Given the description of an element on the screen output the (x, y) to click on. 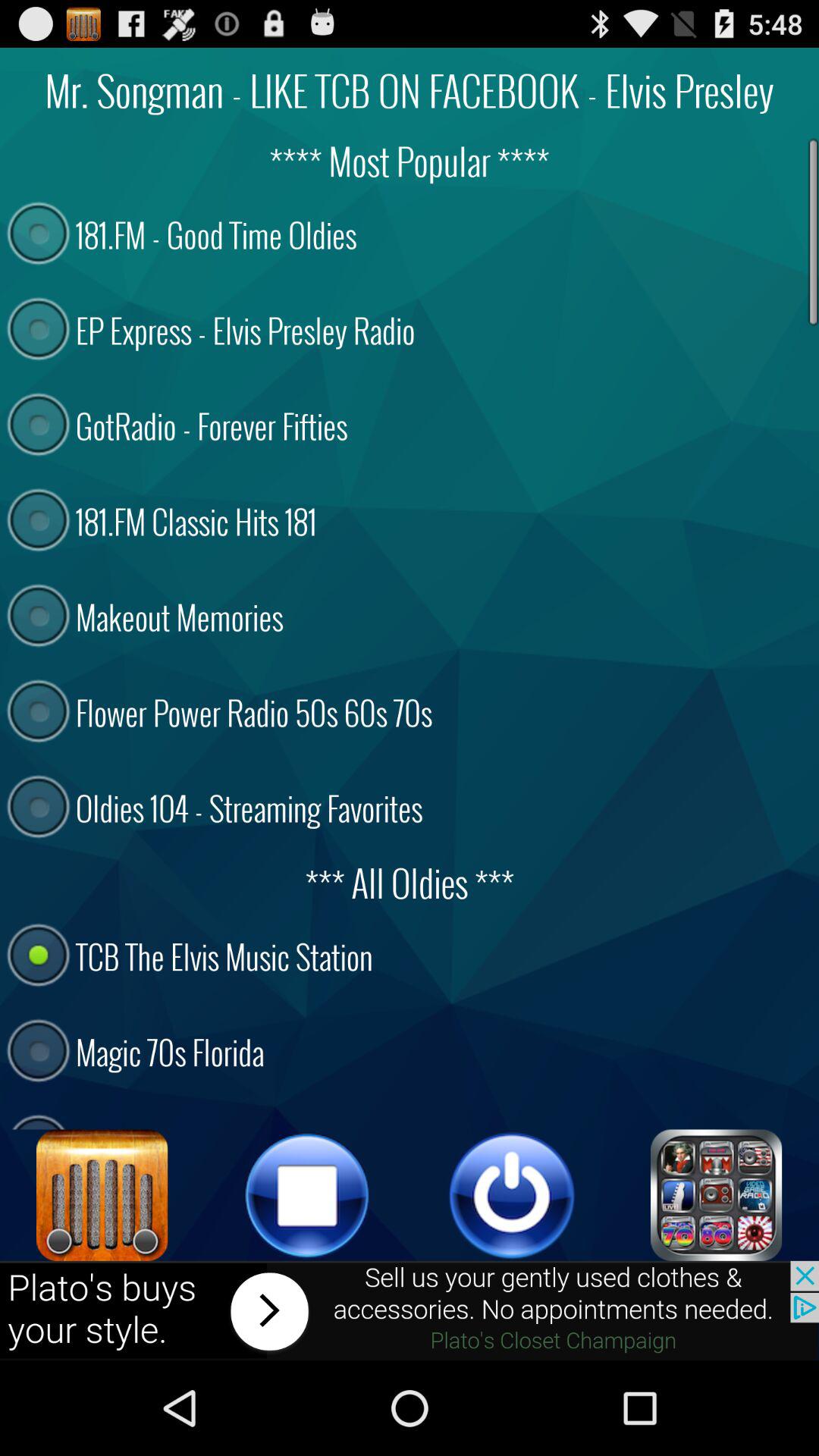
open advertisement (409, 1310)
